Given the description of an element on the screen output the (x, y) to click on. 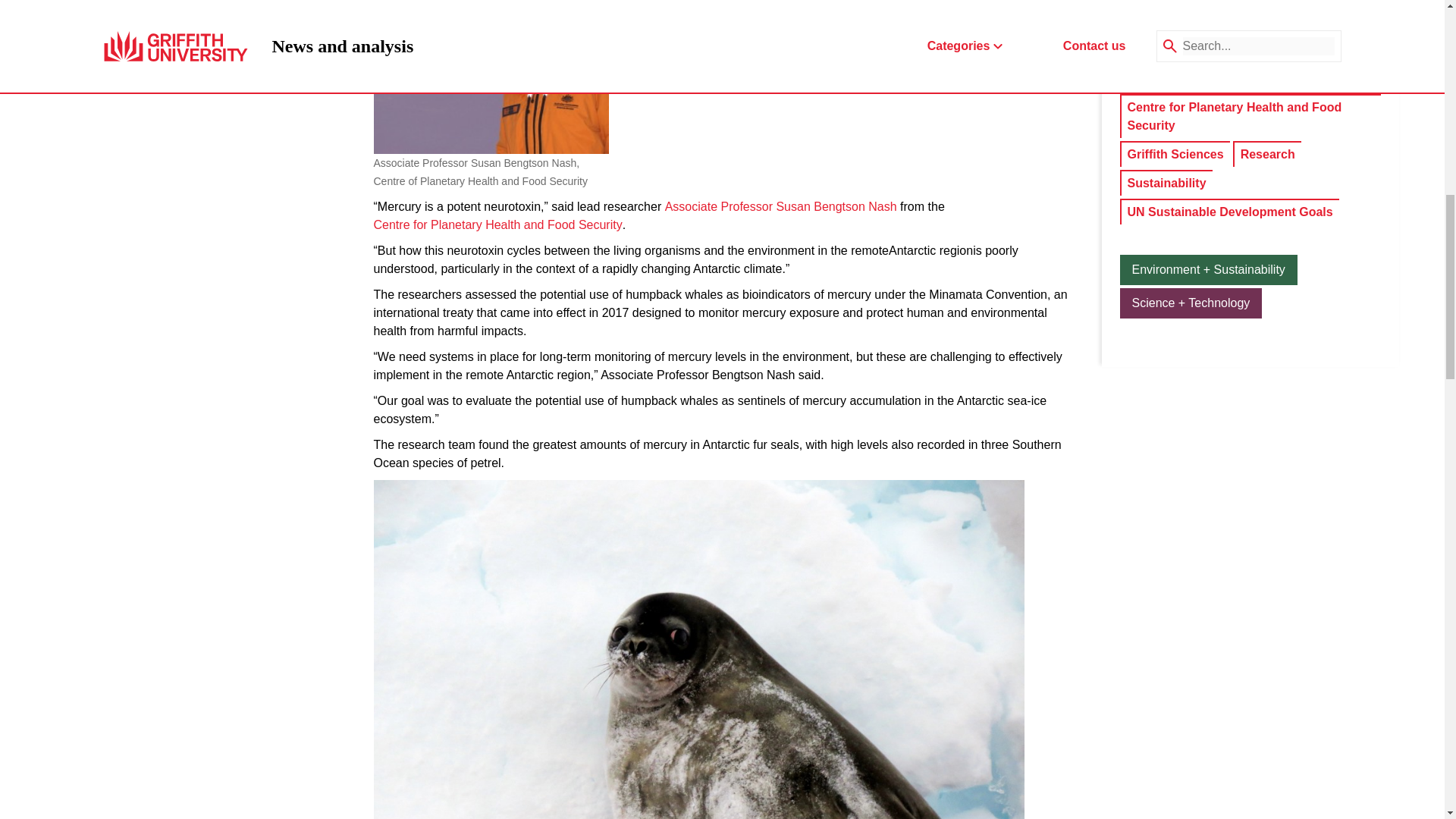
Research (1267, 154)
Griffith Sciences (1174, 154)
Sustainability (1165, 183)
Associate Professor Susan Bengtson Nash (780, 207)
More from Colin (1241, 21)
Centre for Planetary Health and Food Security (1250, 116)
Centre for Planetary Health and Food Security (496, 225)
